Given the description of an element on the screen output the (x, y) to click on. 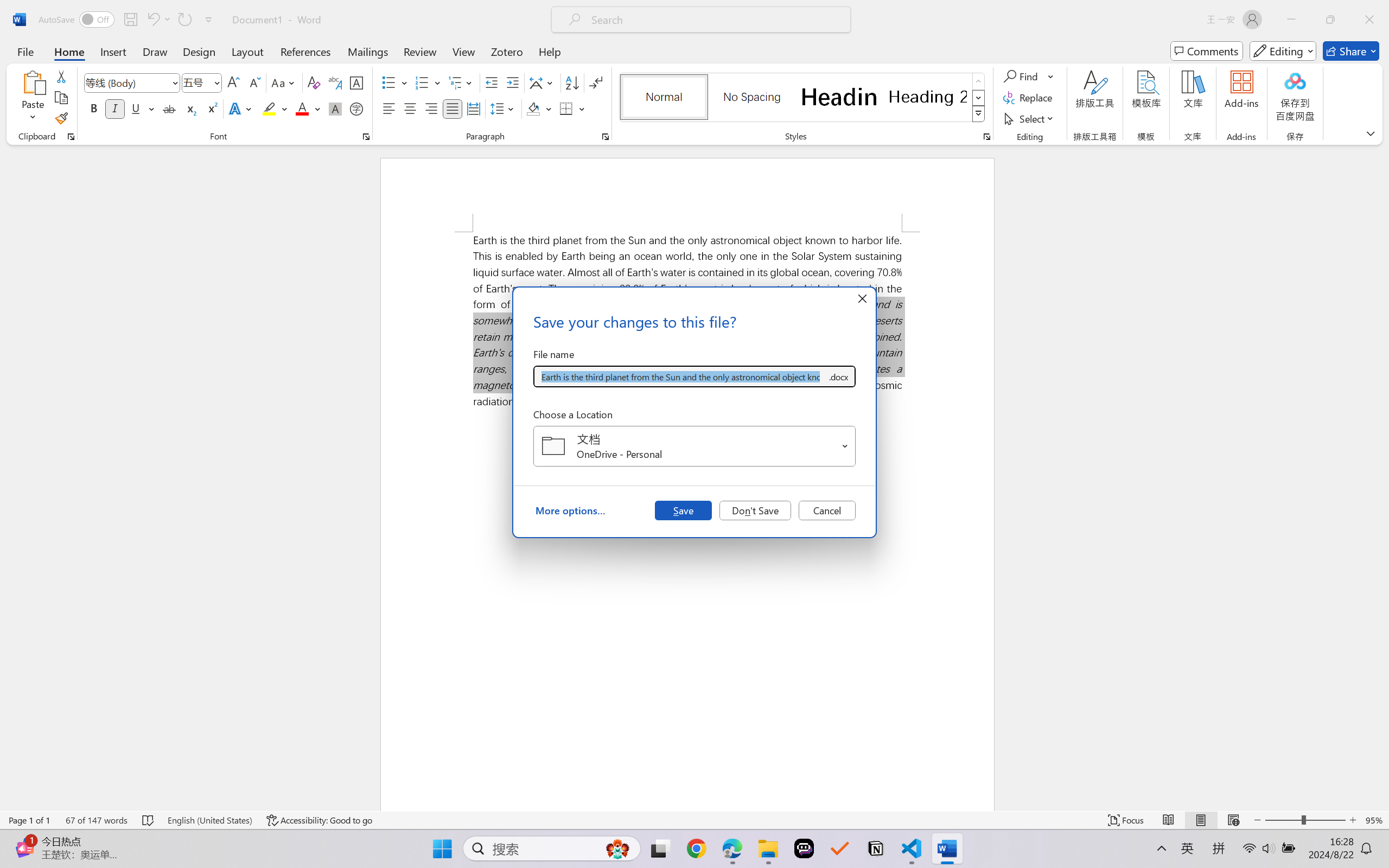
Paragraph... (605, 136)
Heading 1 (839, 96)
Replace... (1029, 97)
Row up (978, 81)
Don't Save (755, 509)
Line and Paragraph Spacing (503, 108)
